Given the description of an element on the screen output the (x, y) to click on. 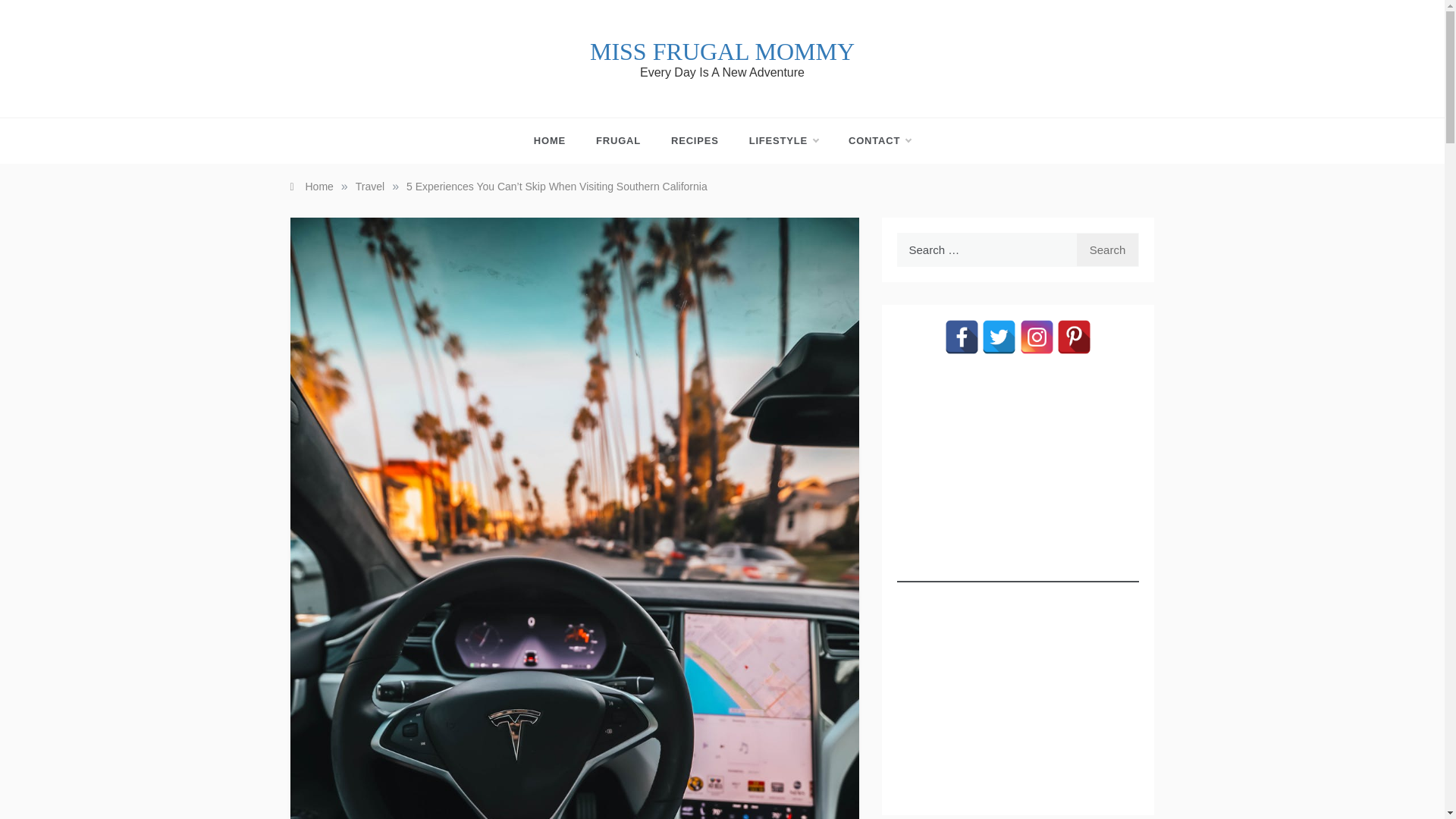
CONTACT (871, 140)
Search (1107, 249)
Facebook (961, 336)
Travel (369, 186)
MISS FRUGAL MOMMY (721, 51)
RECIPES (694, 140)
Advertisement (1017, 687)
LIFESTYLE (782, 140)
Home (311, 186)
HOME (557, 140)
Twitter (998, 336)
FRUGAL (618, 140)
Instagram (1037, 336)
Search (1107, 249)
Pinterest (1073, 336)
